Given the description of an element on the screen output the (x, y) to click on. 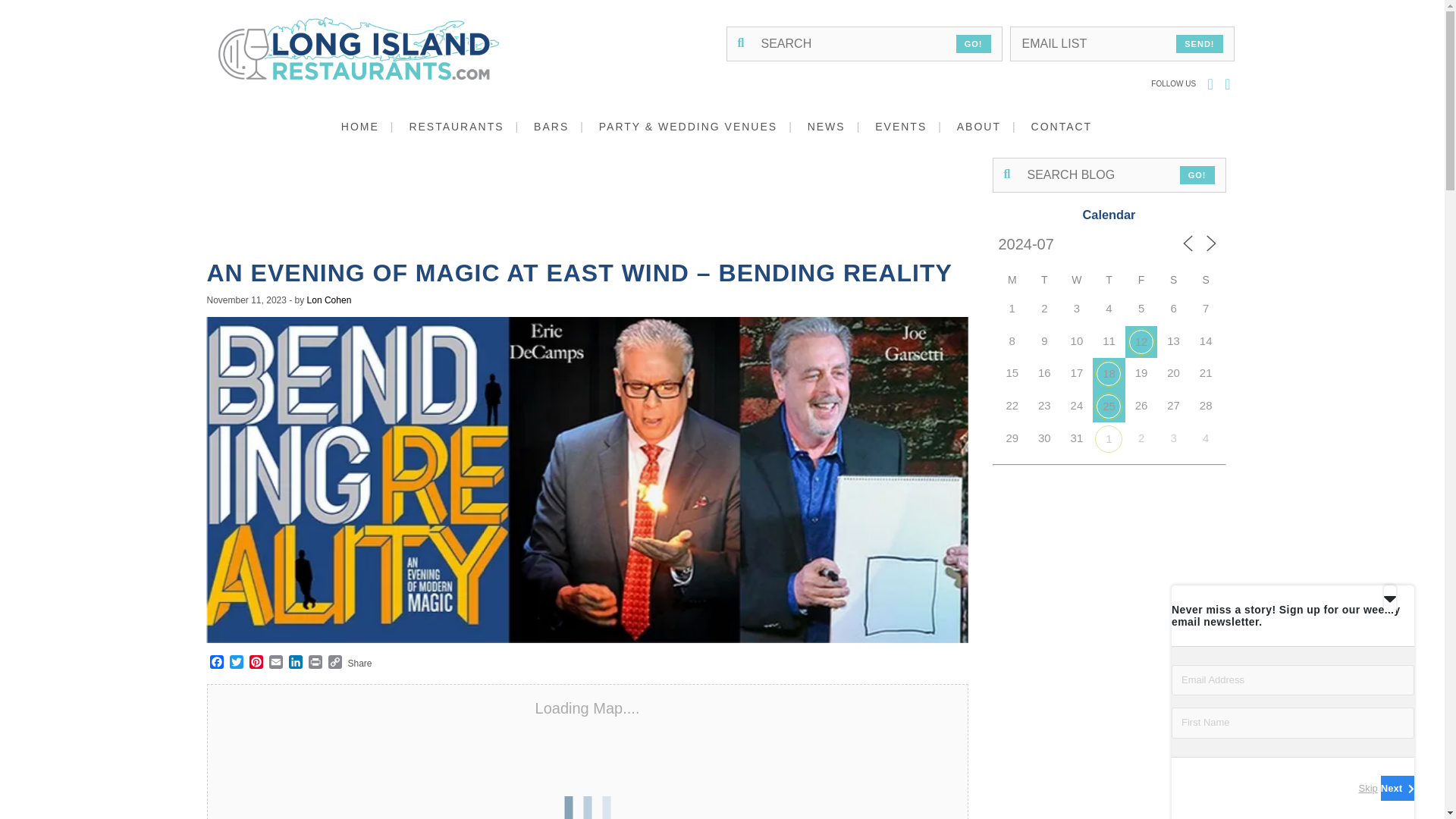
GO! (1196, 175)
NEWS (840, 126)
LinkedIn (294, 663)
Advertisement (547, 206)
Copy Link (333, 663)
Copy Link (333, 663)
Twitter (235, 663)
Facebook (215, 663)
2024-07 (1052, 244)
Facebook (215, 663)
SEND! (1199, 44)
Lon Cohen (329, 299)
EVENTS (914, 126)
ABOUT (991, 126)
Print (314, 663)
